Given the description of an element on the screen output the (x, y) to click on. 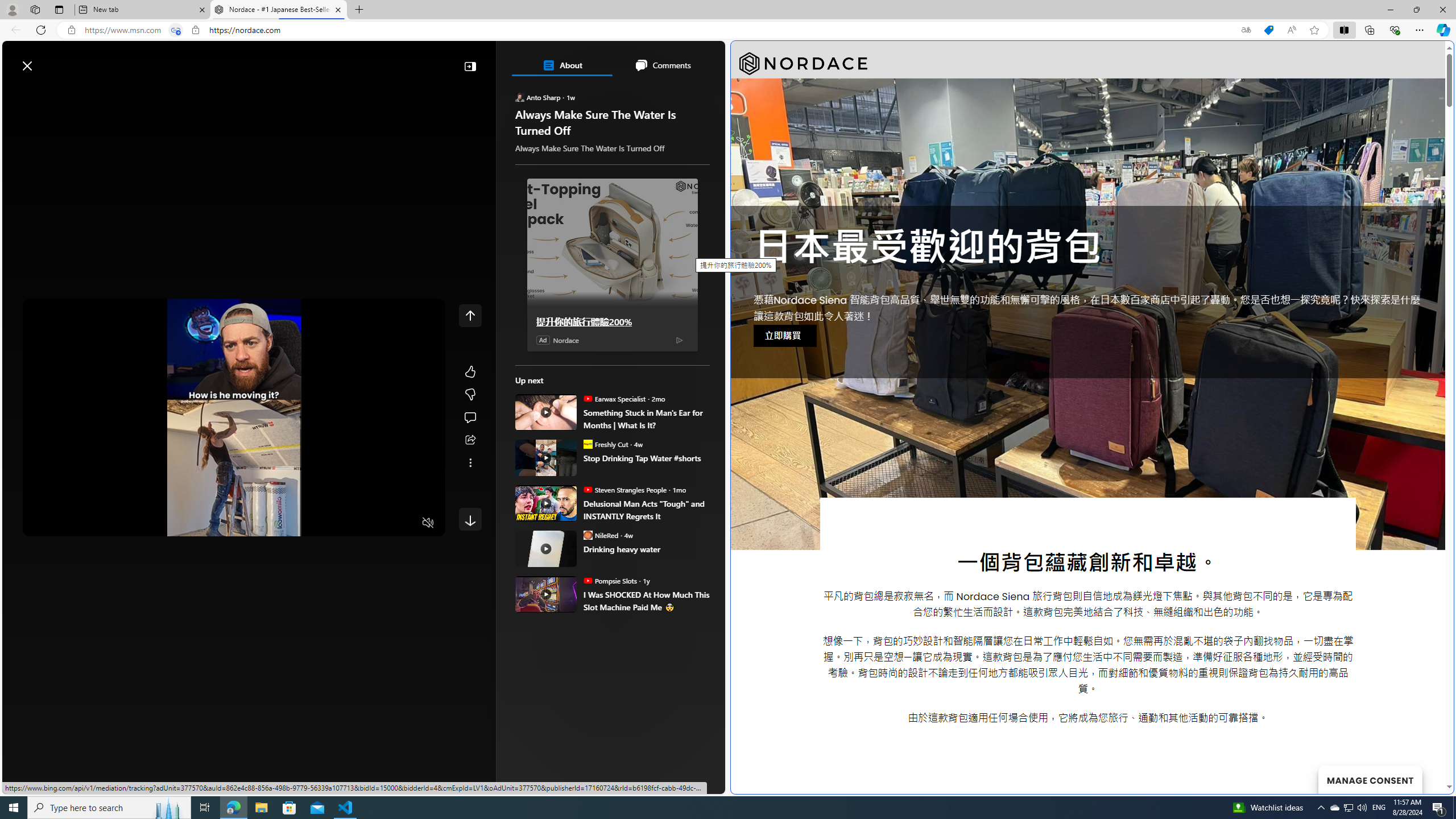
Share this story (469, 440)
Start the conversation (469, 417)
Feedback (681, 784)
Class: control icon-only (469, 315)
